Given the description of an element on the screen output the (x, y) to click on. 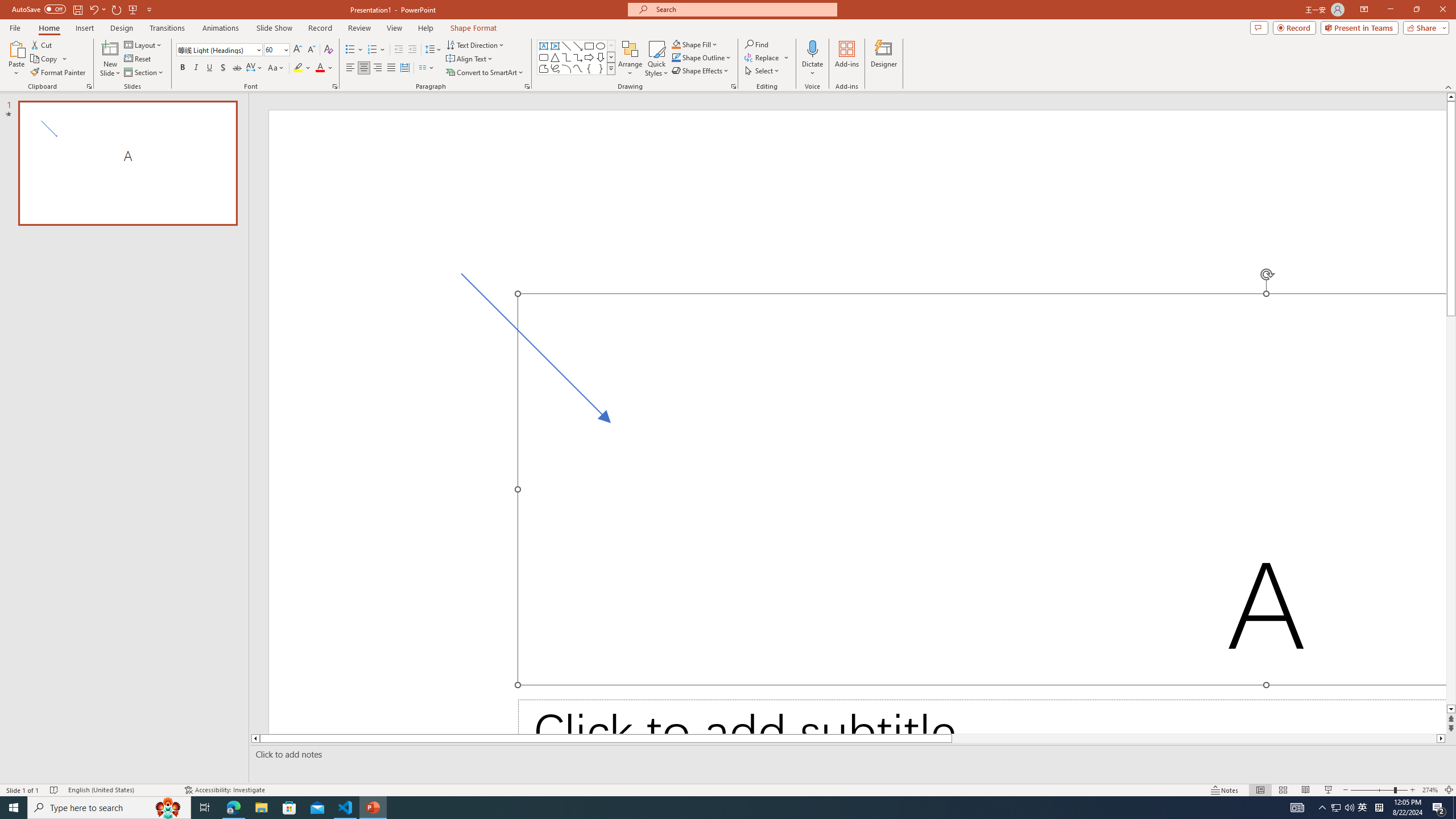
Slide A (127, 163)
